Given the description of an element on the screen output the (x, y) to click on. 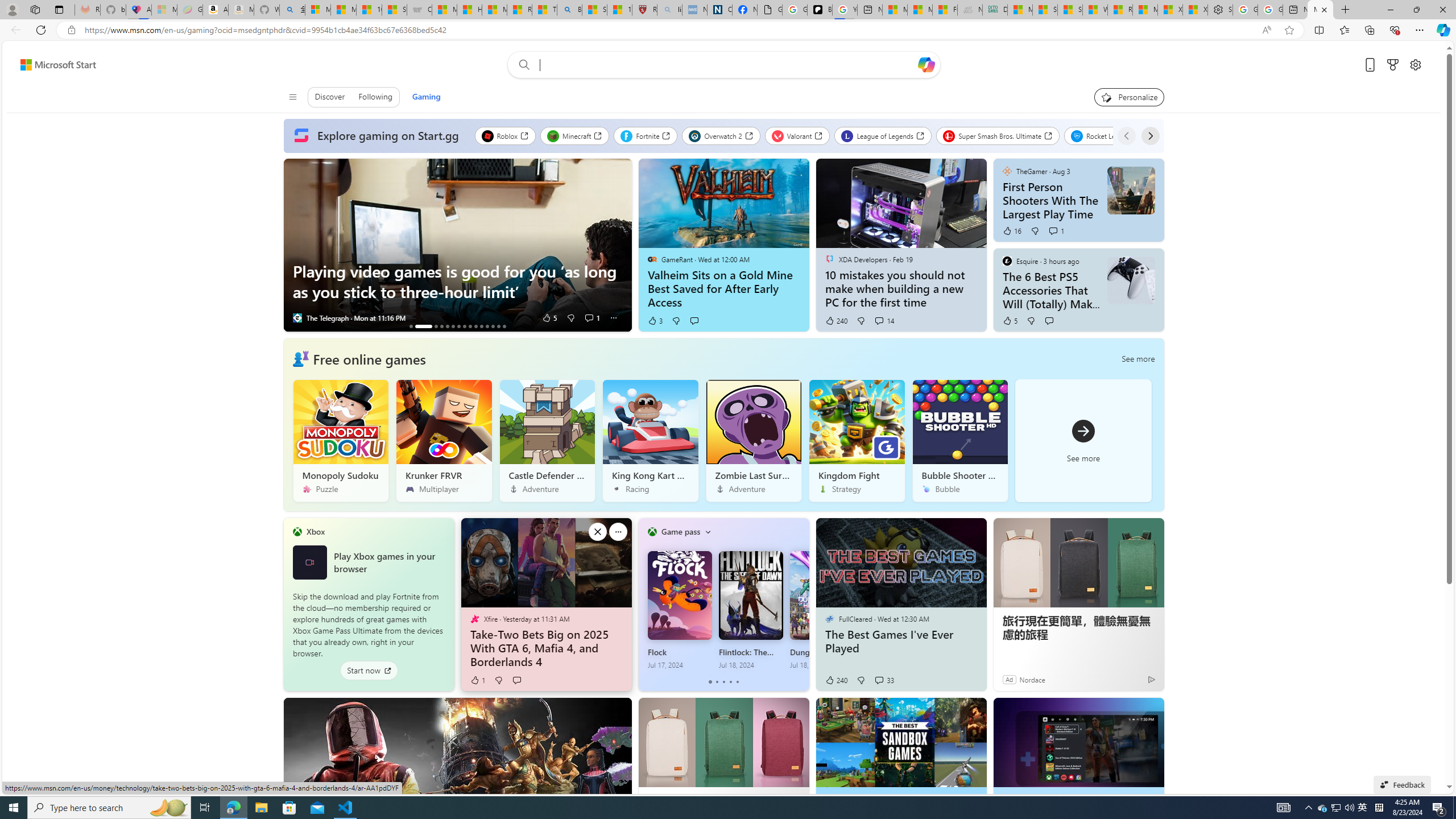
See more (1082, 440)
Class: icon-img (707, 531)
Skip to footer (50, 64)
tab-1 (716, 682)
Ad (1008, 678)
The Telegraph (296, 317)
Feedback (1402, 784)
Rocket League (1106, 135)
League of Legends (882, 135)
Start now (368, 670)
Class: next-flipper (802, 604)
